Given the description of an element on the screen output the (x, y) to click on. 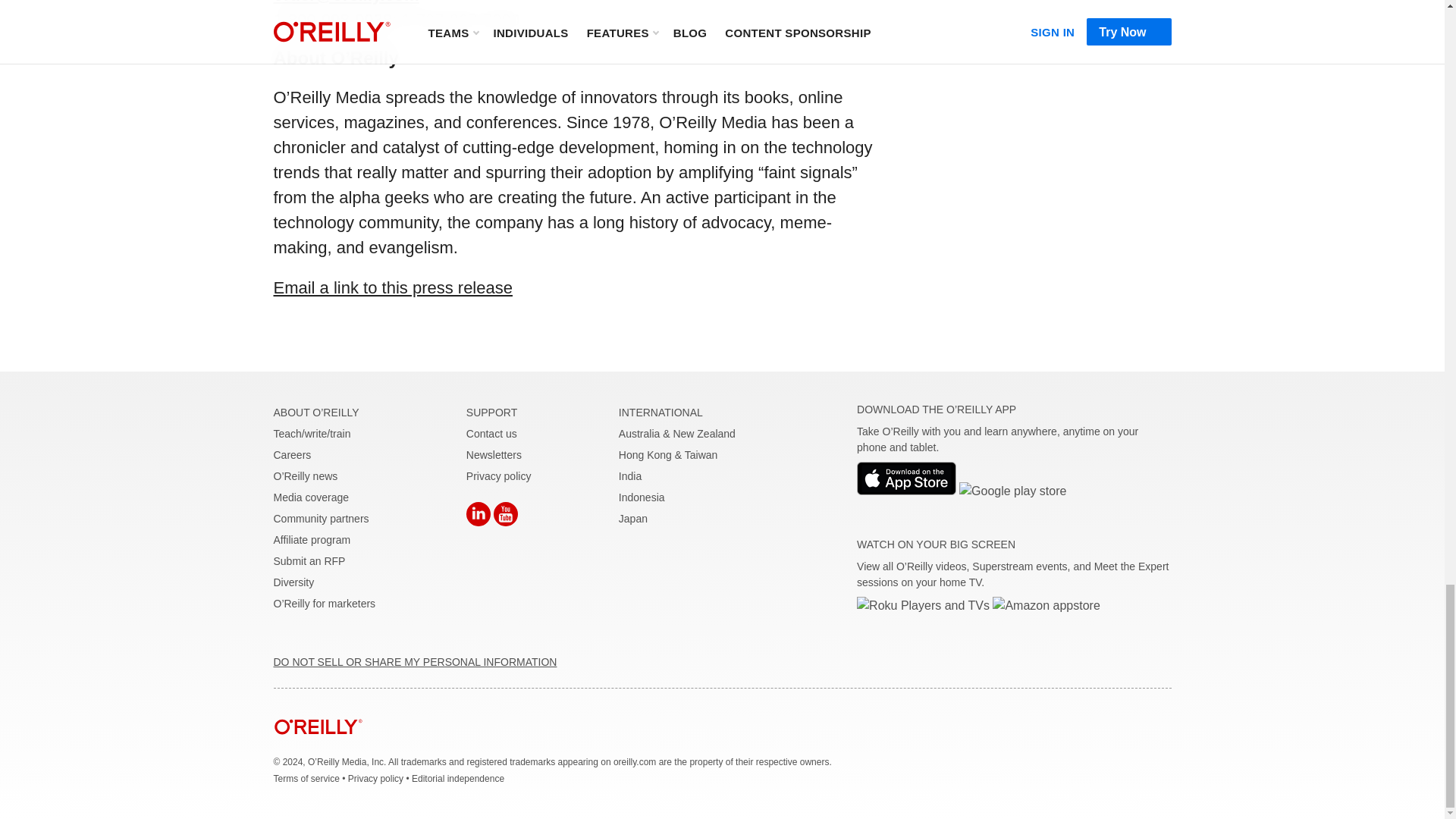
home page (317, 745)
Community partners (320, 518)
Submit an RFP (309, 561)
Media coverage (311, 497)
Affiliate program (311, 539)
Email a link to this press release (392, 287)
Diversity (293, 582)
Careers (292, 454)
